Given the description of an element on the screen output the (x, y) to click on. 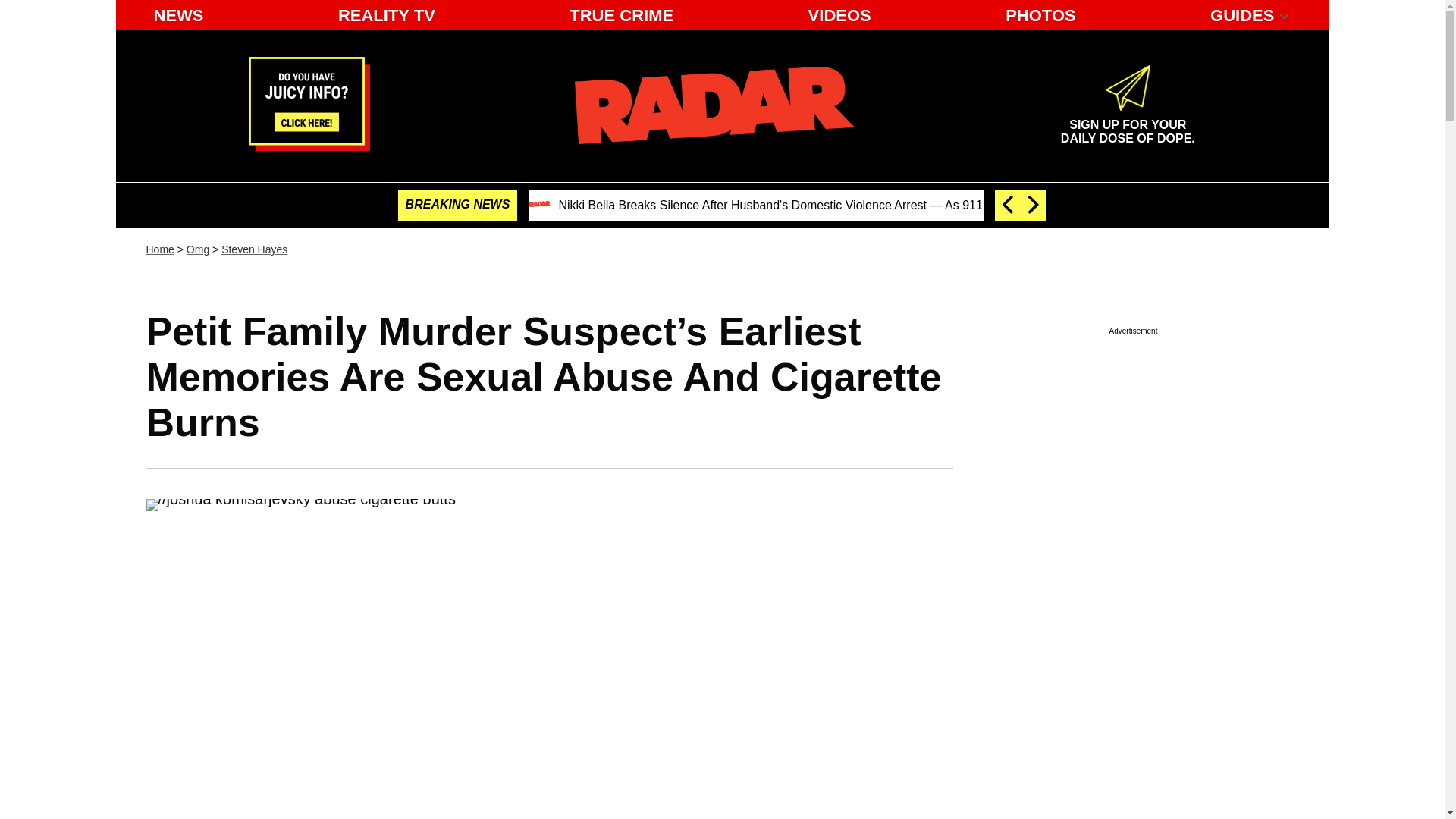
Sign up for your daily dose of dope. (1127, 124)
VIDEOS (839, 15)
NEWS (178, 15)
Radar Online (714, 105)
TRUE CRIME (621, 15)
Steven Hayes (253, 249)
Home (159, 249)
Email us your tip (1127, 124)
Omg (308, 146)
